Given the description of an element on the screen output the (x, y) to click on. 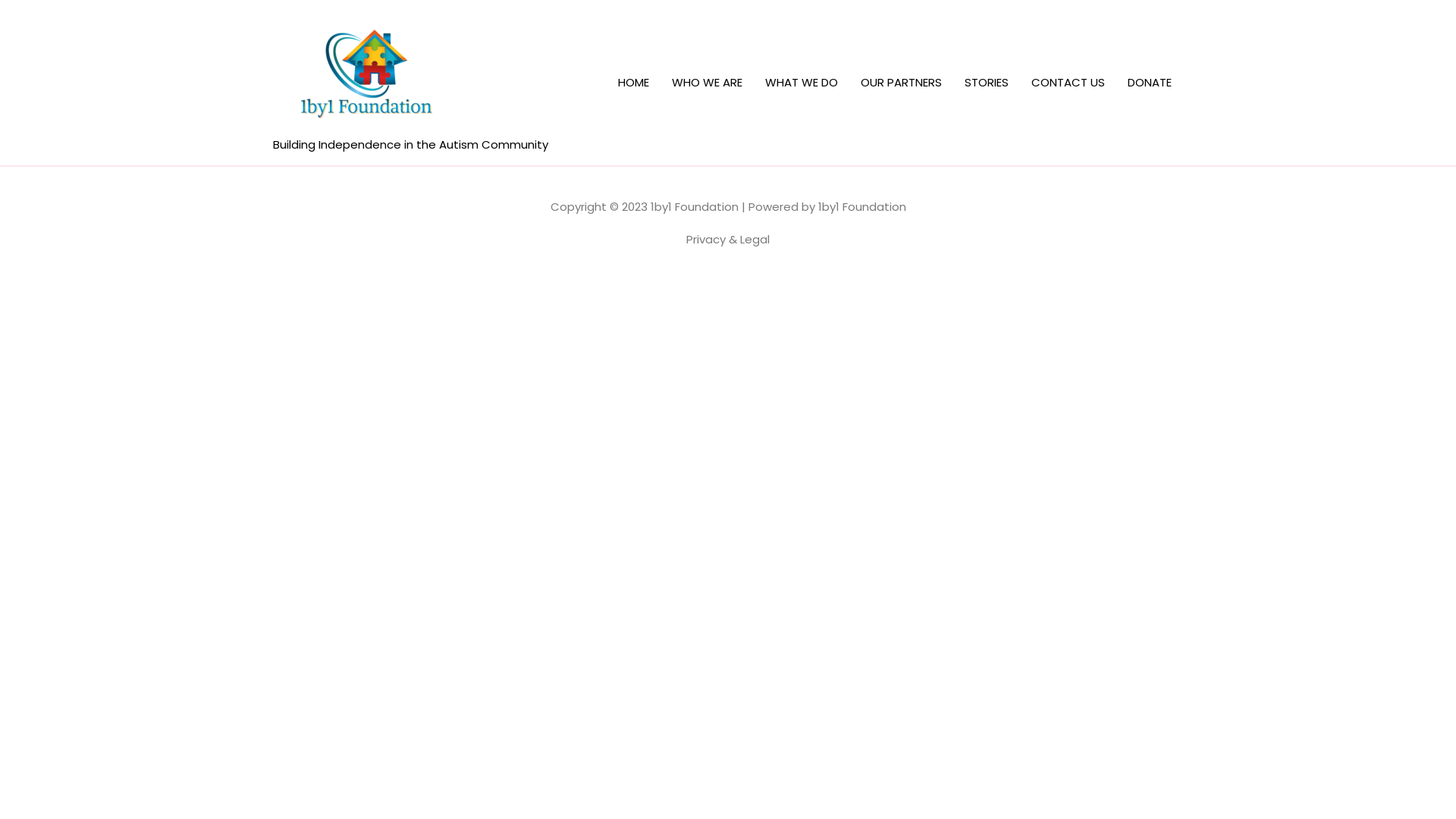
HOME Element type: text (633, 82)
DONATE Element type: text (1149, 82)
STORIES Element type: text (986, 82)
OUR PARTNERS Element type: text (901, 82)
WHAT WE DO Element type: text (801, 82)
CONTACT US Element type: text (1067, 82)
WHO WE ARE Element type: text (706, 82)
